Given the description of an element on the screen output the (x, y) to click on. 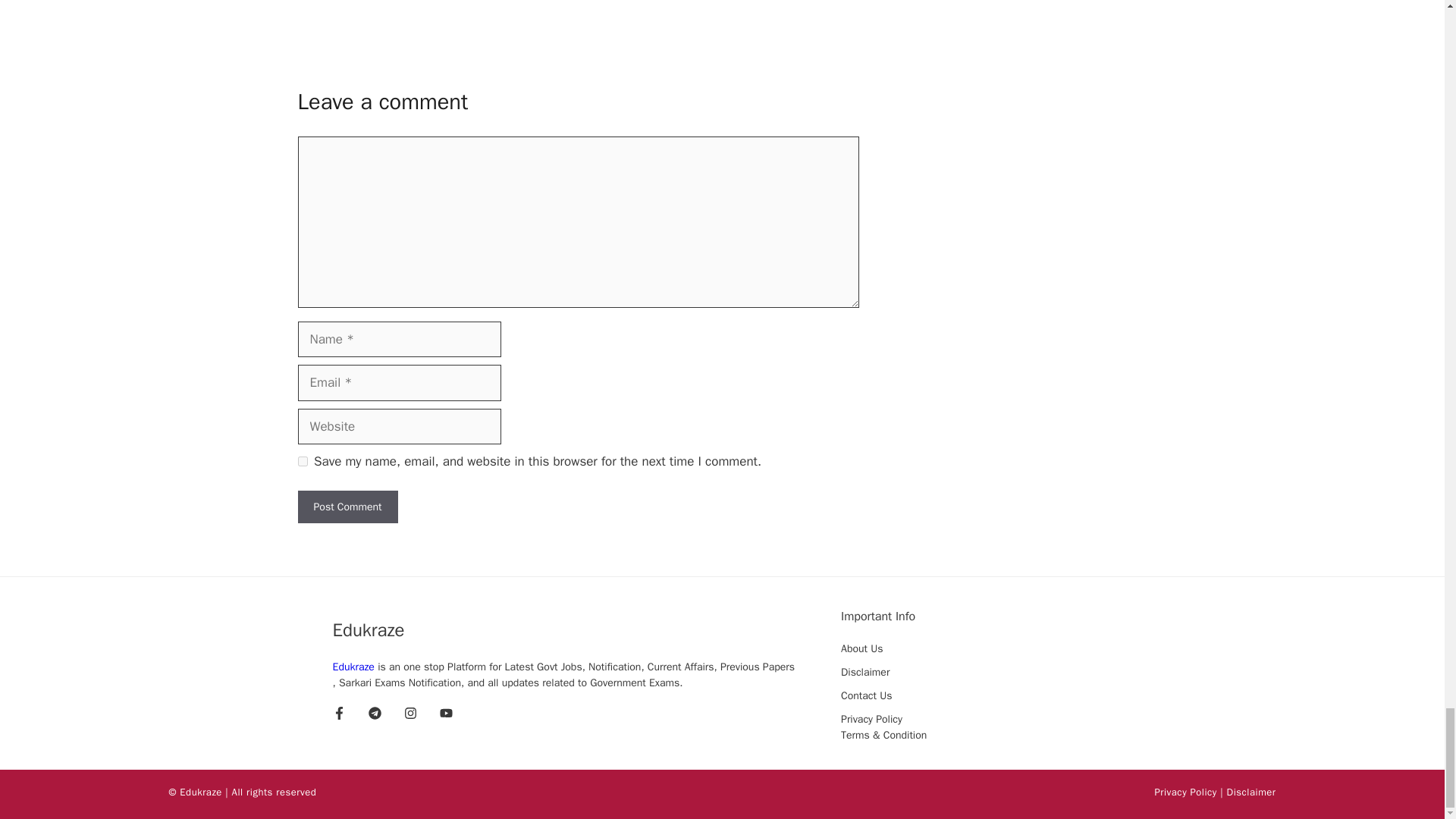
yes (302, 461)
Post Comment (347, 506)
